Given the description of an element on the screen output the (x, y) to click on. 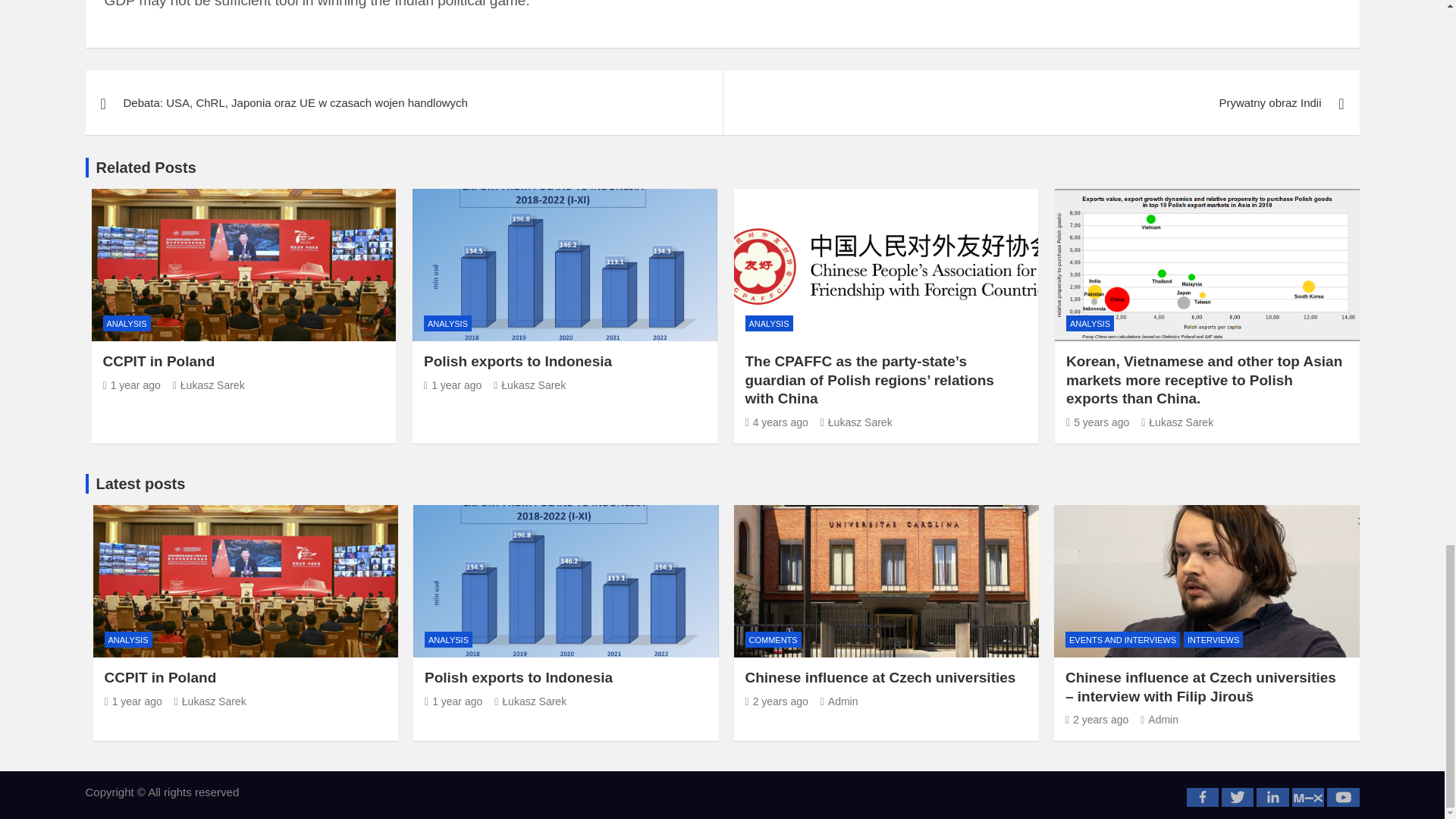
Prywatny obraz Indii (1040, 102)
CCPIT in Poland (159, 360)
1 year ago (453, 701)
ANALYSIS (447, 323)
5 years ago (1097, 422)
1 year ago (452, 385)
4 years ago (776, 422)
1 year ago (131, 385)
2 years ago (1096, 719)
